Given the description of an element on the screen output the (x, y) to click on. 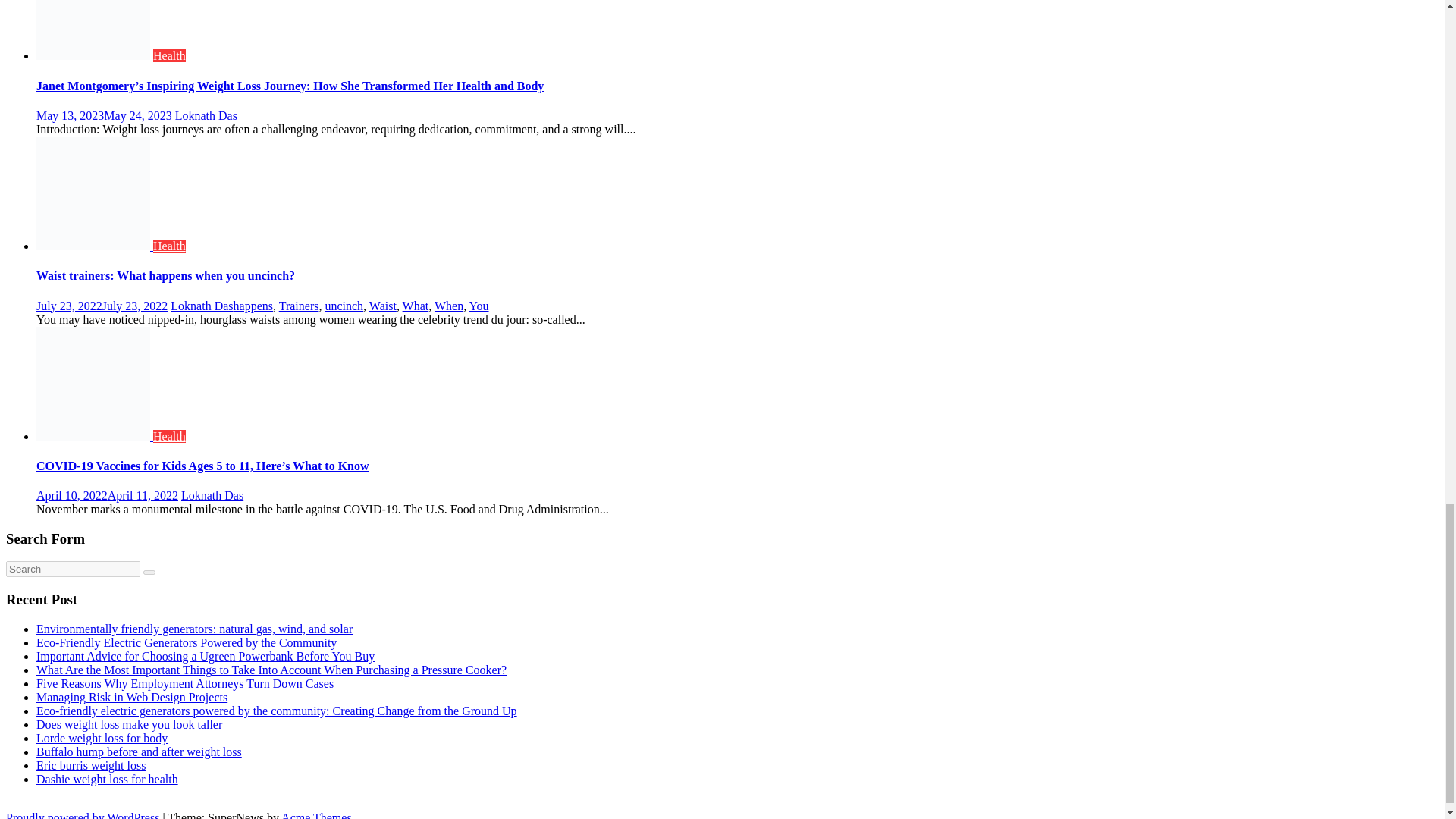
May 13, 2023May 24, 2023 (103, 115)
Health (169, 55)
Loknath Das (205, 115)
Health (169, 245)
Waist trainers: What happens when you uncinch? (165, 275)
